Given the description of an element on the screen output the (x, y) to click on. 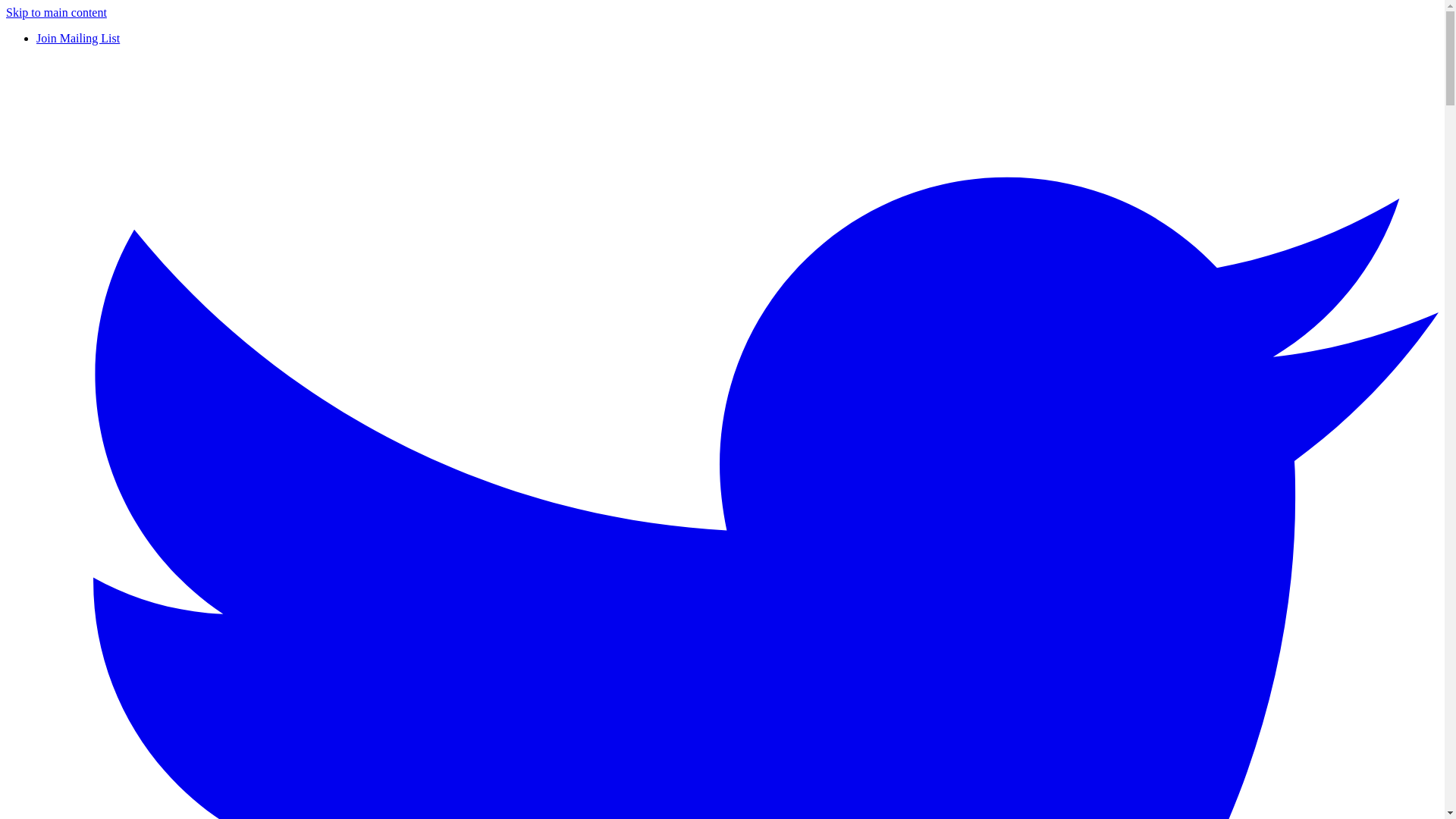
Skip to main content (55, 11)
Join Mailing List (77, 38)
